Given the description of an element on the screen output the (x, y) to click on. 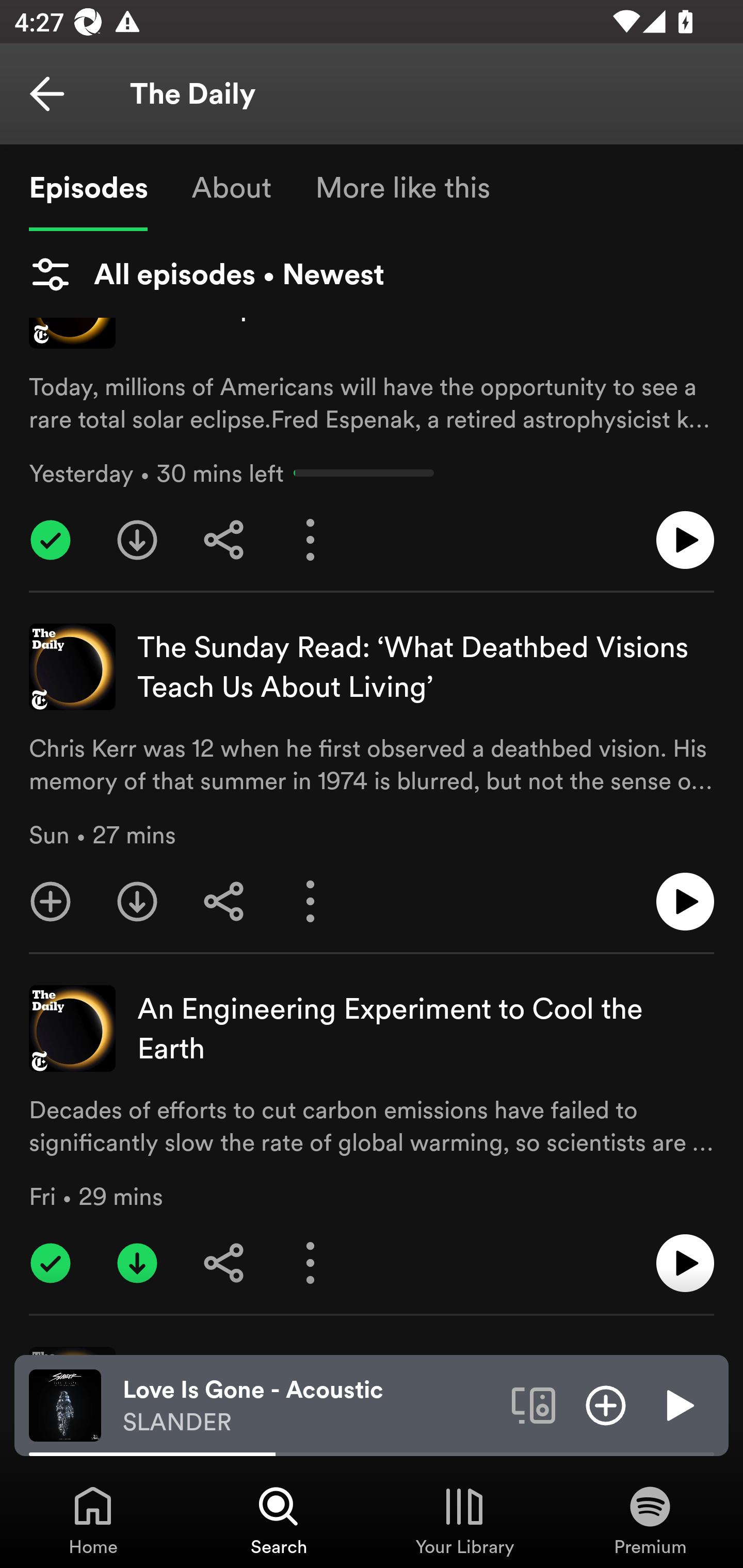
Back (46, 93)
About (231, 187)
More like this (402, 187)
All episodes • Newest (206, 274)
The Eclipse Chaser added to Your Episodes (50, 540)
Download episode: The Eclipse Chaser (136, 540)
Share (223, 540)
More options for episode The Eclipse Chaser (310, 540)
Play episode: The Eclipse Chaser (684, 540)
Share (223, 901)
Share (223, 1262)
Love Is Gone - Acoustic SLANDER (309, 1405)
The cover art of the currently playing track (64, 1404)
Connect to a device. Opens the devices menu (533, 1404)
Add item (605, 1404)
Play (677, 1404)
Home, Tab 1 of 4 Home Home (92, 1519)
Search, Tab 2 of 4 Search Search (278, 1519)
Your Library, Tab 3 of 4 Your Library Your Library (464, 1519)
Premium, Tab 4 of 4 Premium Premium (650, 1519)
